Given the description of an element on the screen output the (x, y) to click on. 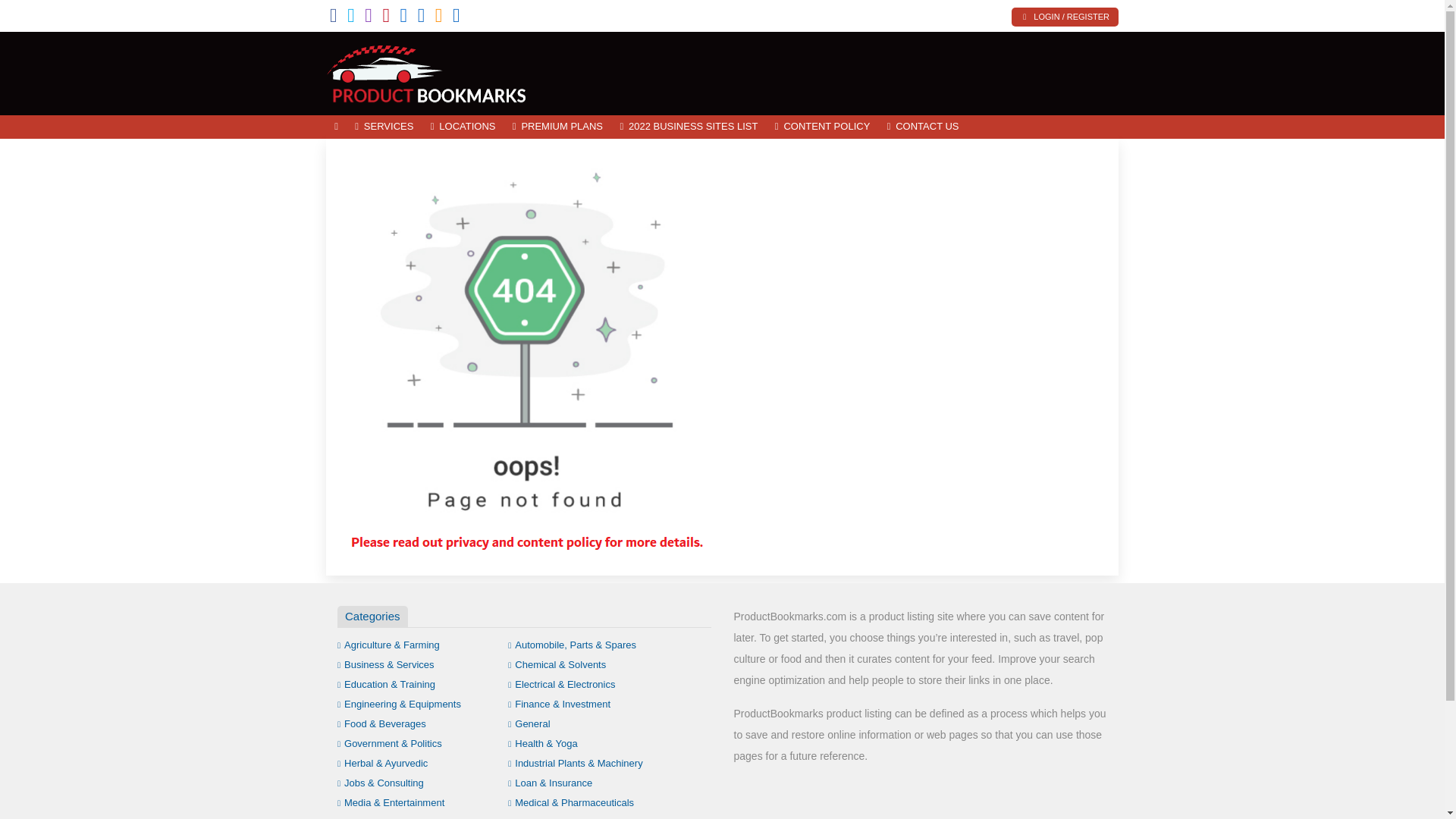
LOCATIONS (462, 126)
CONTENT POLICY (823, 126)
PREMIUM PLANS (557, 126)
SERVICES (384, 126)
General (529, 723)
2022 BUSINESS SITES LIST (688, 126)
CONTACT US (921, 126)
